Given the description of an element on the screen output the (x, y) to click on. 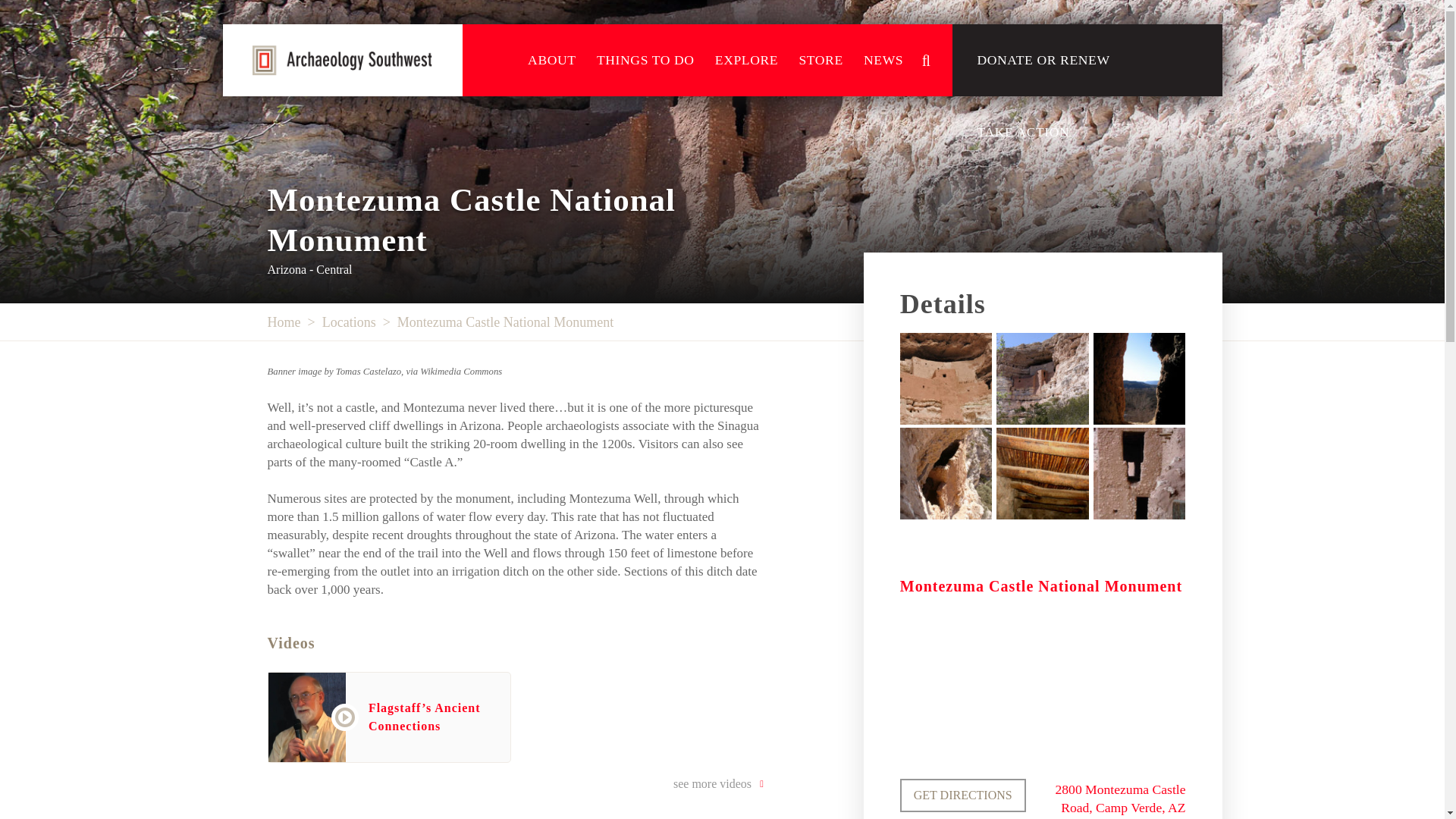
Ceiling beams inside Montezuma Castle. Credit: NPS (1041, 473)
Looking South from inside Montezuma Castle. Credit NPS (1139, 378)
Home (282, 321)
DONATE OR RENEW (1043, 60)
Looking down from the top of Montezuma Castle. Credit: NPS (945, 473)
Montezuma Castle T-shaped Entrance. Credit: NPS Photo (1139, 473)
Locations (348, 321)
Montezuma Castle National Monument (504, 321)
TAKE ACTION (1024, 132)
